Given the description of an element on the screen output the (x, y) to click on. 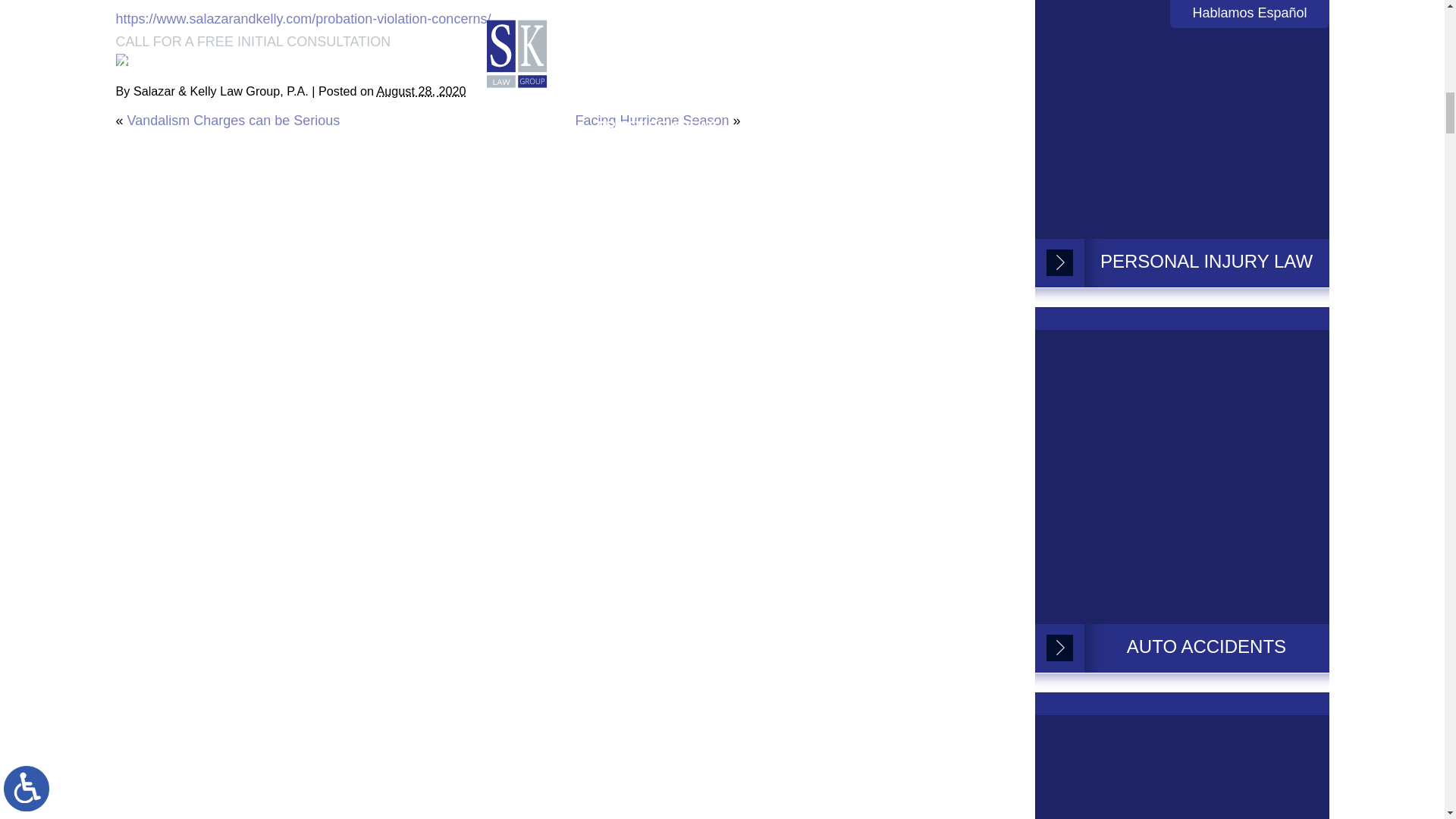
LinkedIn (142, 60)
Twitter (131, 60)
Facebook (121, 60)
2020-08-28T13:10:03-0700 (421, 90)
